Given the description of an element on the screen output the (x, y) to click on. 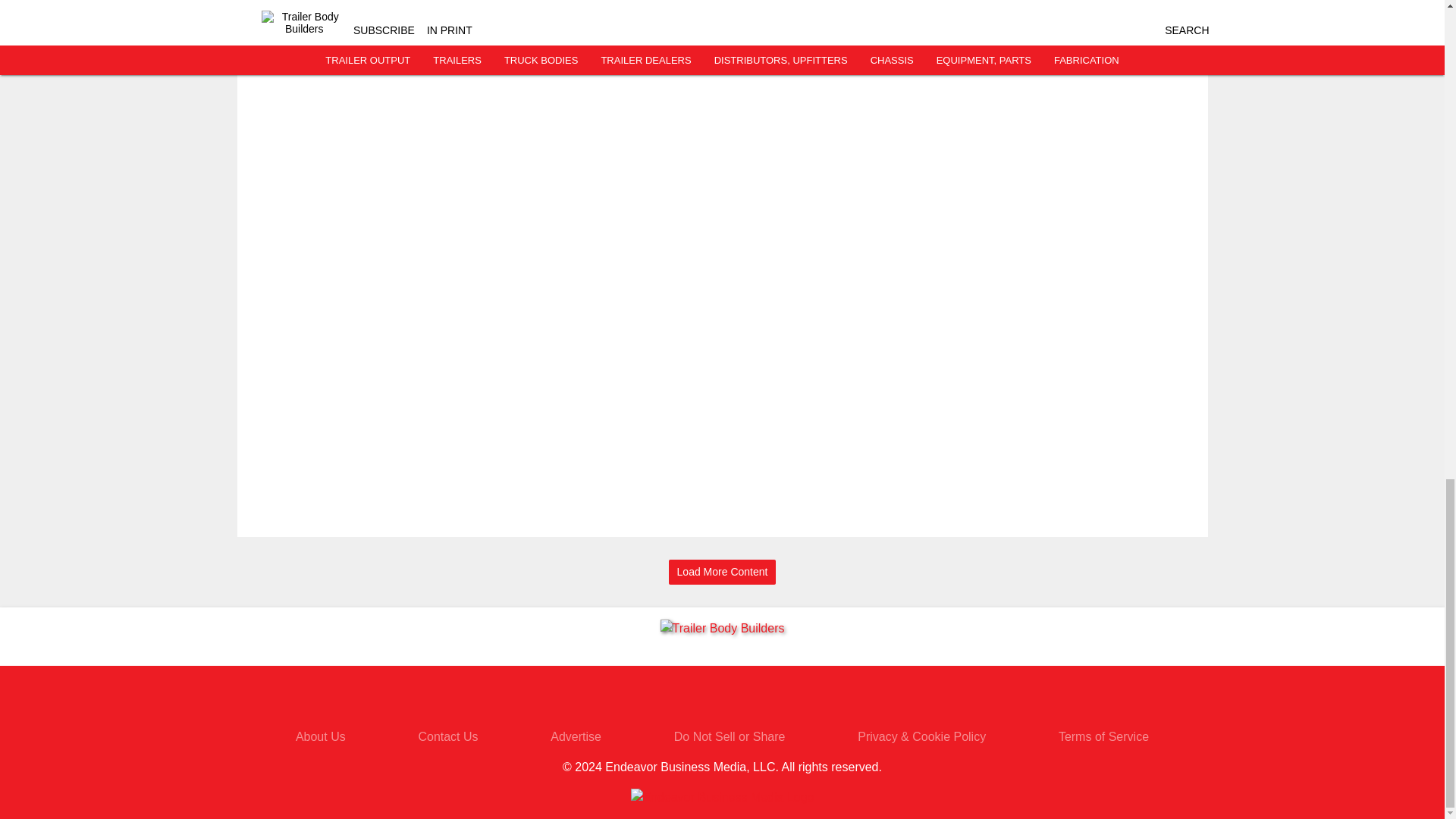
Convention Calendar November 2014 (424, 6)
Image (307, 14)
Archive (424, 45)
